Given the description of an element on the screen output the (x, y) to click on. 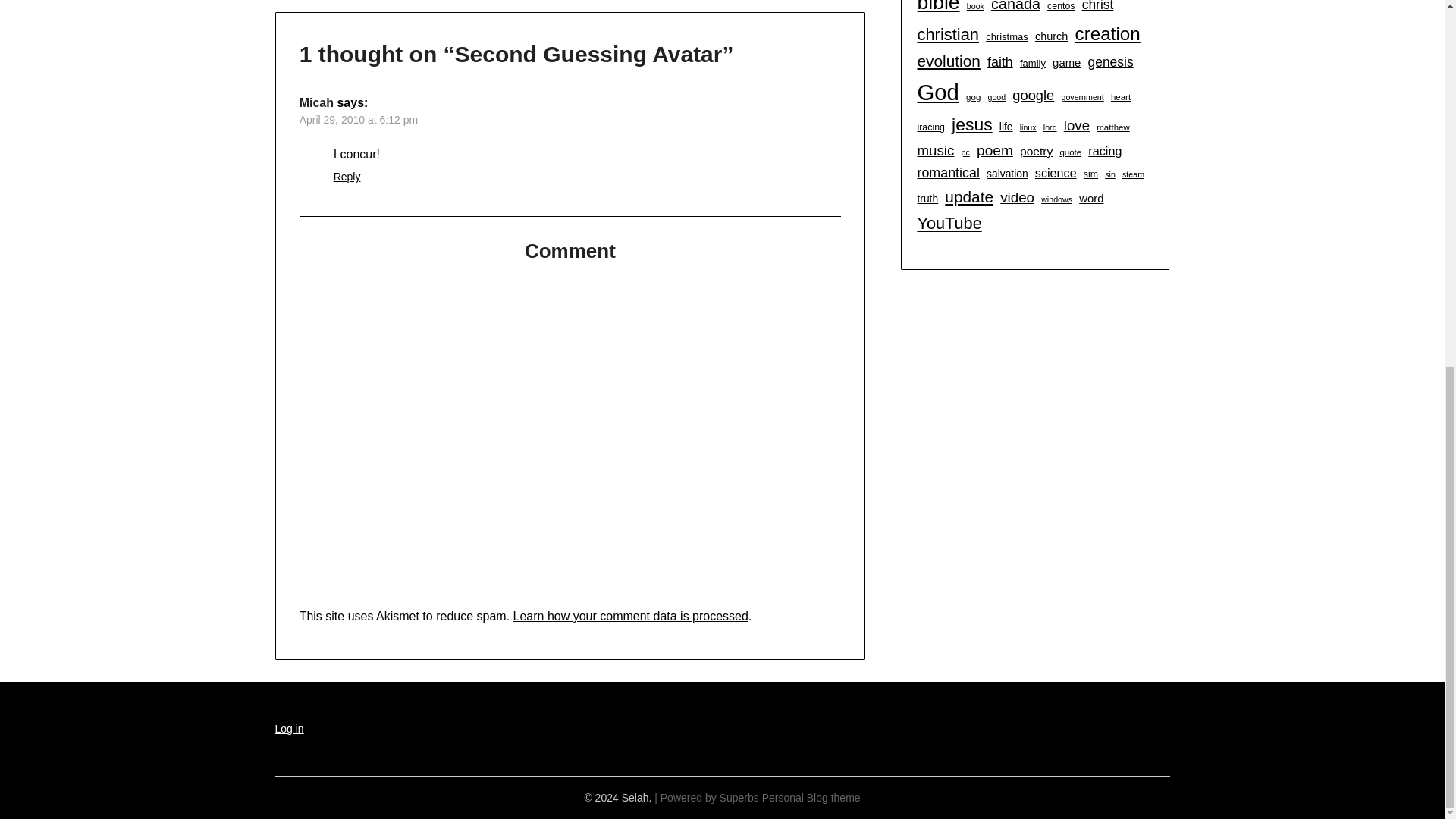
April 29, 2010 at 6:12 pm (358, 119)
evolution (948, 61)
christmas (1006, 36)
christian (947, 34)
creation (1107, 33)
Learn how your comment data is processed (630, 615)
Reply (347, 176)
canada (1016, 7)
bible (938, 9)
